Given the description of an element on the screen output the (x, y) to click on. 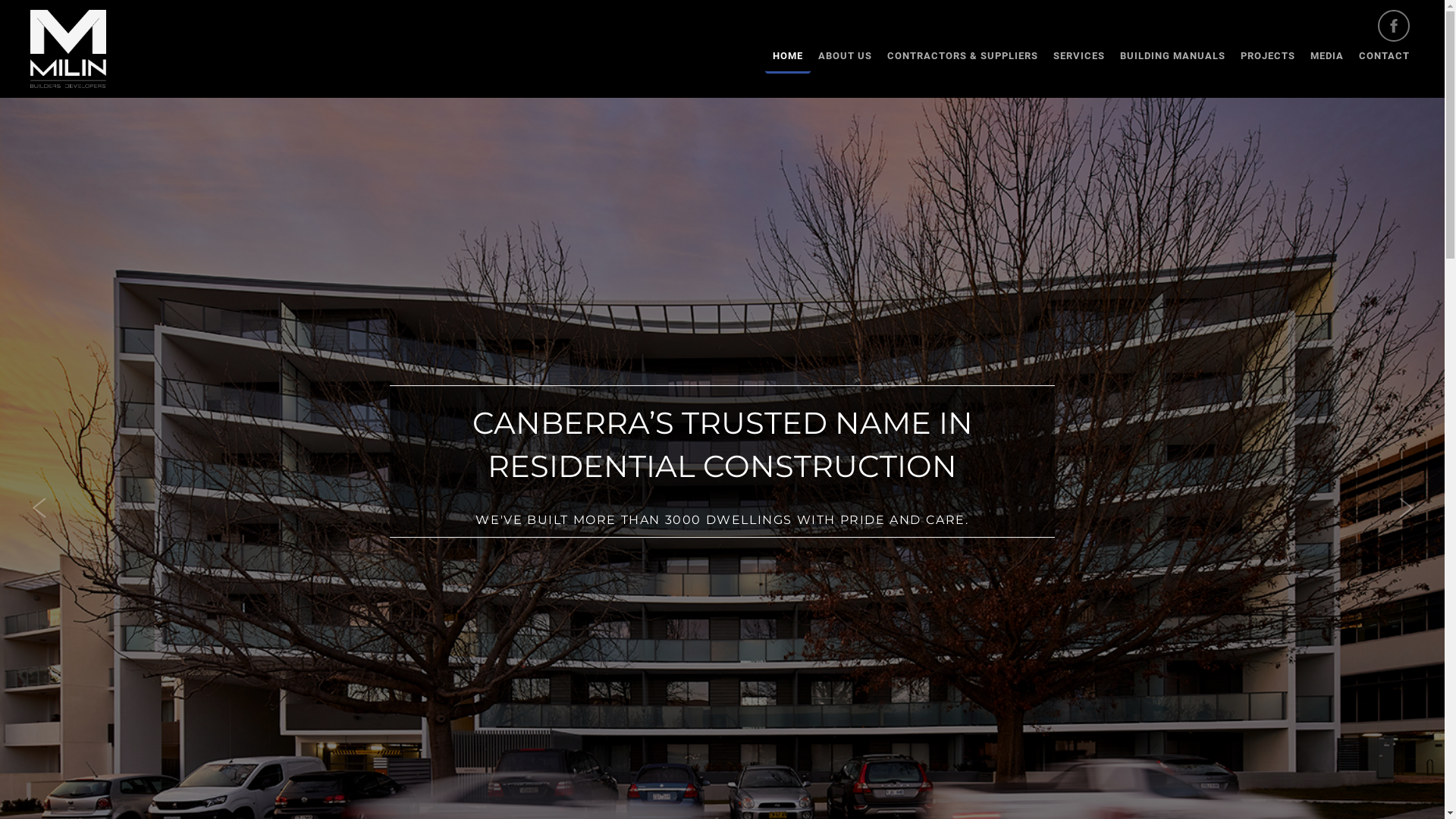
ABOUT US Element type: text (844, 56)
SERVICES Element type: text (1078, 56)
CONTRACTORS & SUPPLIERS Element type: text (962, 56)
HOME Element type: text (787, 57)
MEDIA Element type: text (1326, 56)
BUILDING MANUALS Element type: text (1172, 56)
PROJECTS Element type: text (1267, 56)
CONTACT Element type: text (1384, 56)
